Given the description of an element on the screen output the (x, y) to click on. 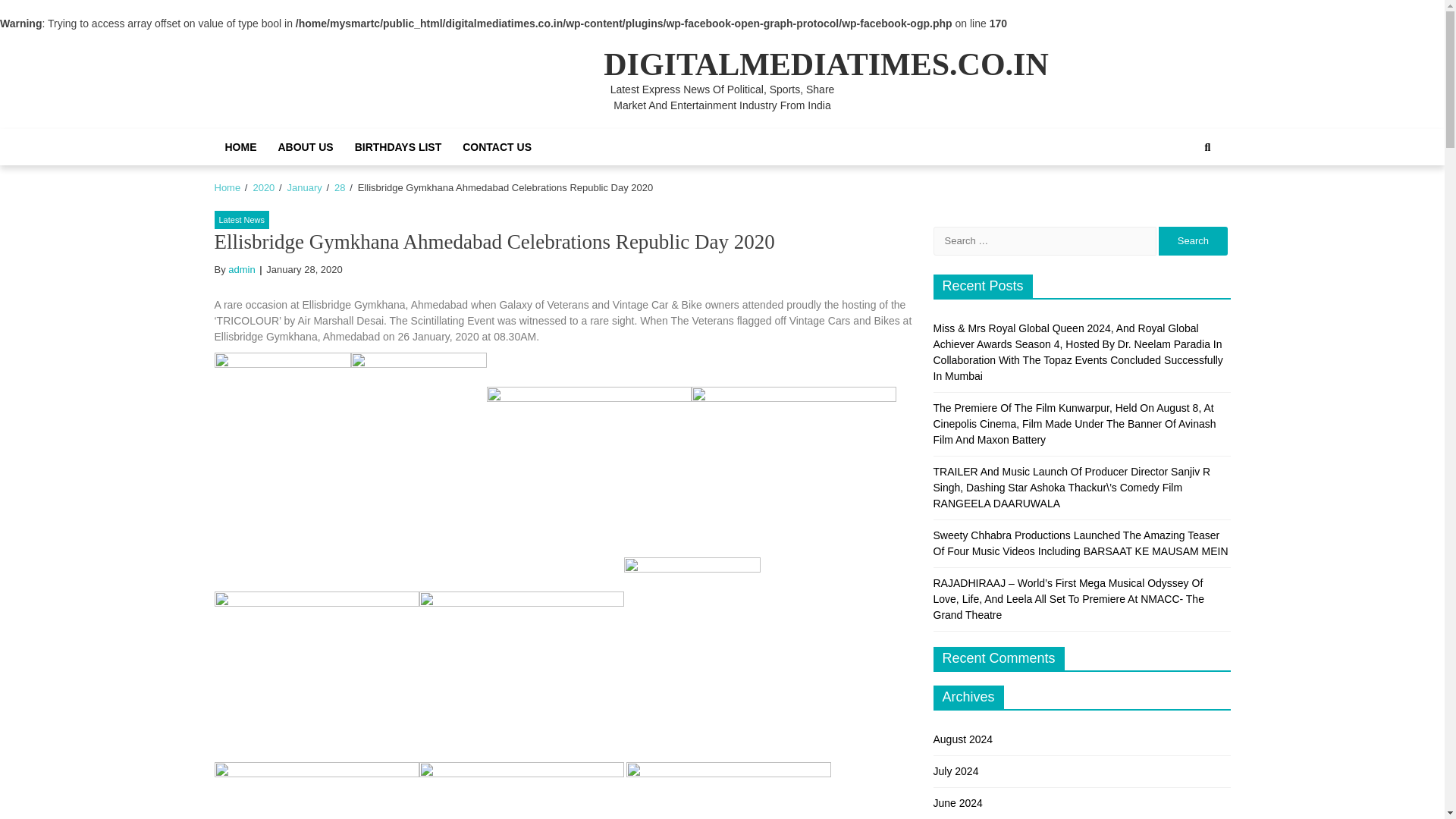
CONTACT US (496, 146)
2020 (263, 187)
Latest News (241, 220)
ABOUT US (304, 146)
Search (1207, 146)
BIRTHDAYS LIST (397, 146)
admin (241, 269)
28 (339, 187)
Search (1191, 198)
Search (1192, 240)
